Given the description of an element on the screen output the (x, y) to click on. 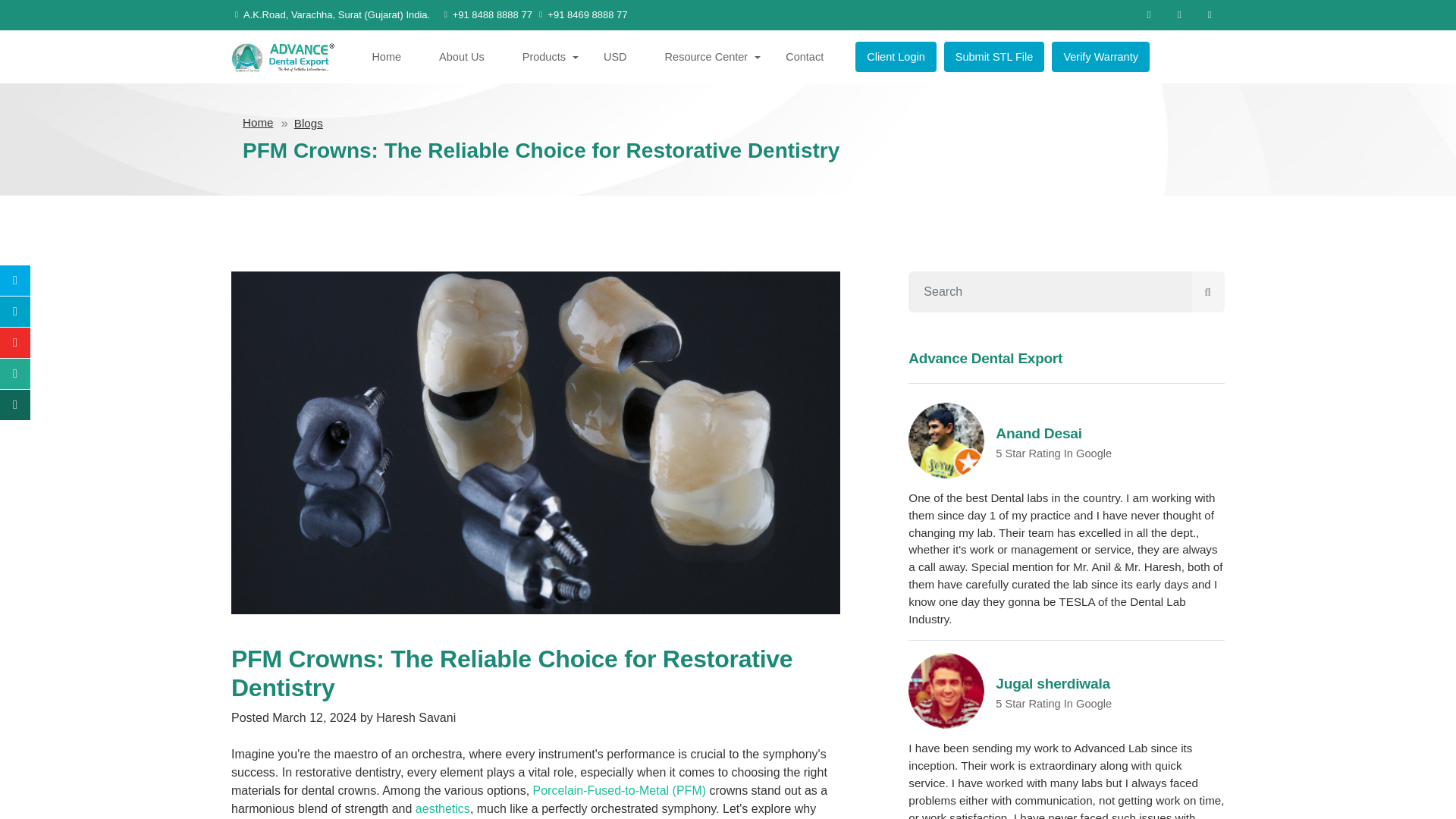
Products (548, 56)
Home (391, 56)
Twitter (1178, 15)
Linkedin (1208, 15)
Resource Center (711, 56)
About Us (466, 56)
Facebook (1148, 15)
USD (619, 56)
Contact (809, 56)
